Given the description of an element on the screen output the (x, y) to click on. 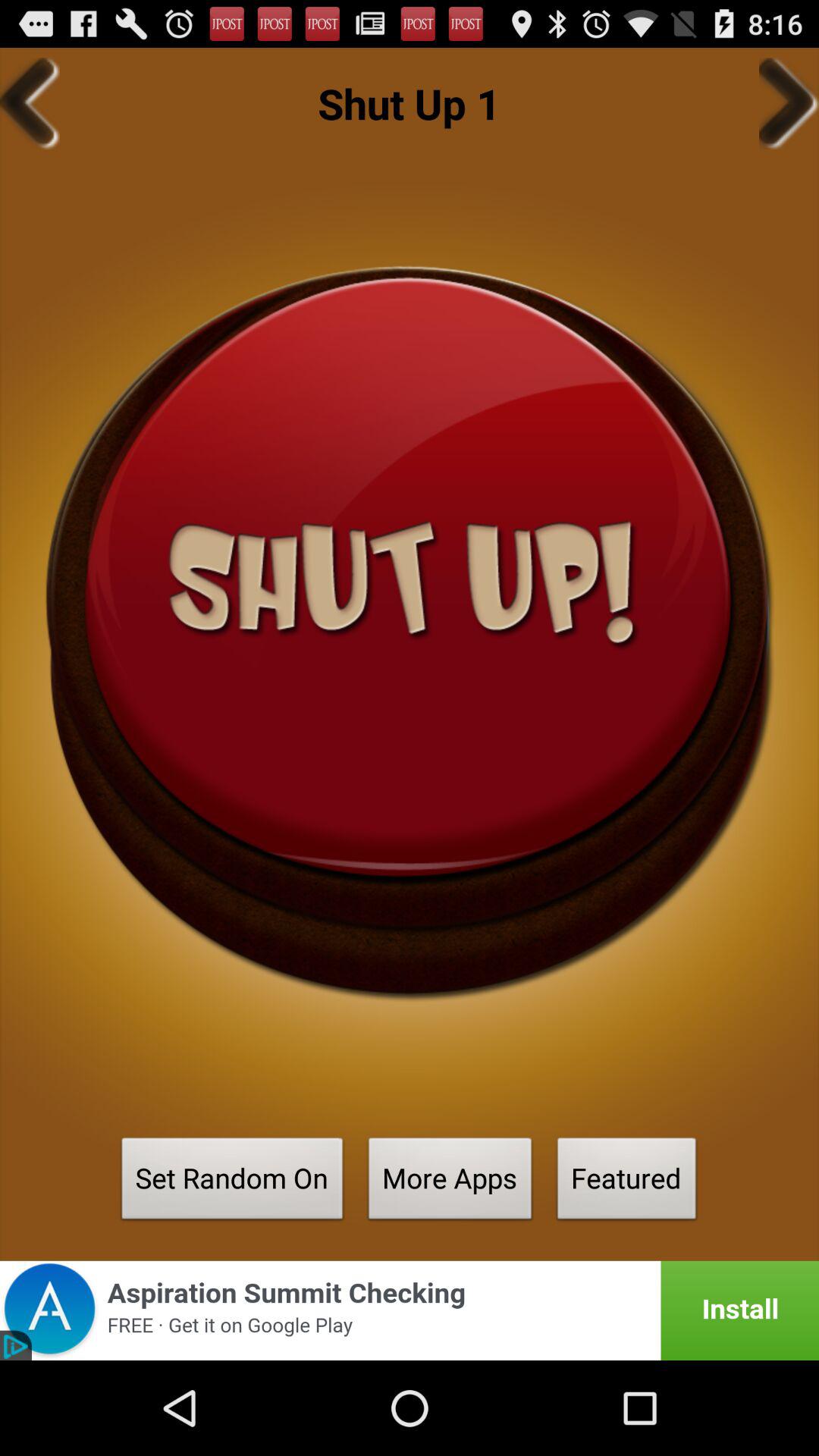
toggle mute (409, 632)
